Given the description of an element on the screen output the (x, y) to click on. 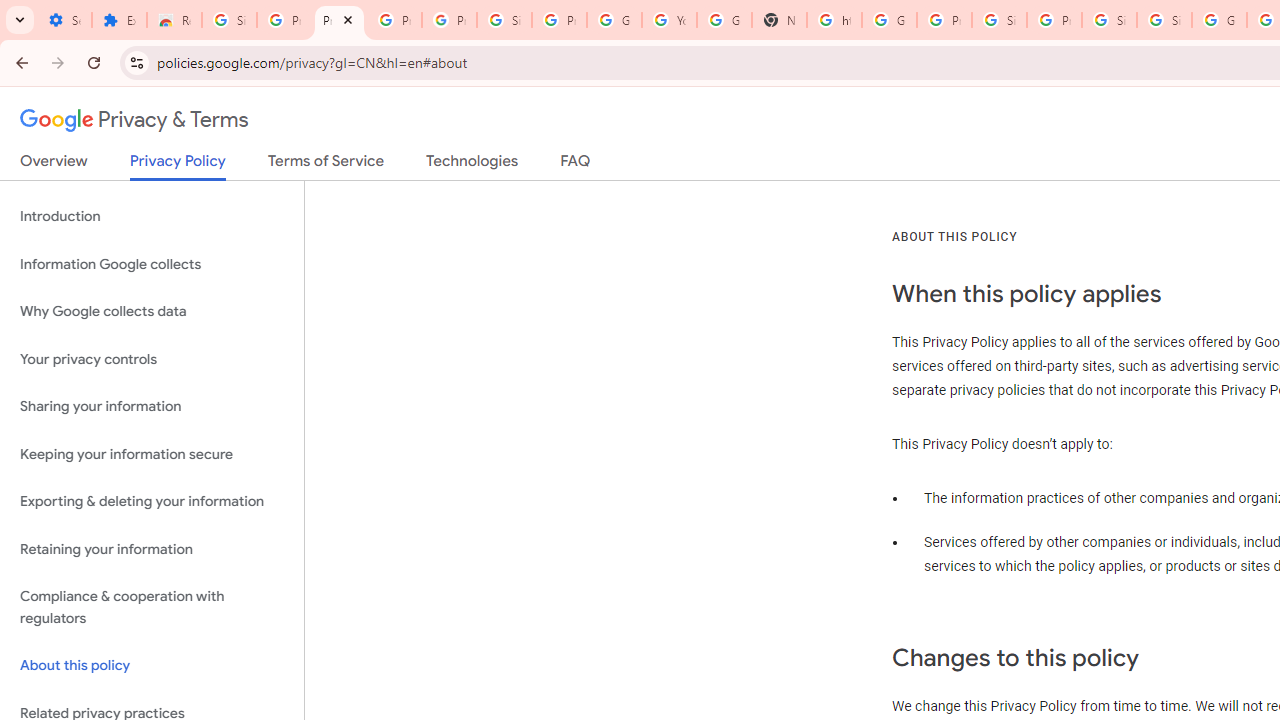
Settings - On startup (64, 20)
Why Google collects data (152, 312)
Sharing your information (152, 407)
Google Account (614, 20)
Sign in - Google Accounts (1163, 20)
